Given the description of an element on the screen output the (x, y) to click on. 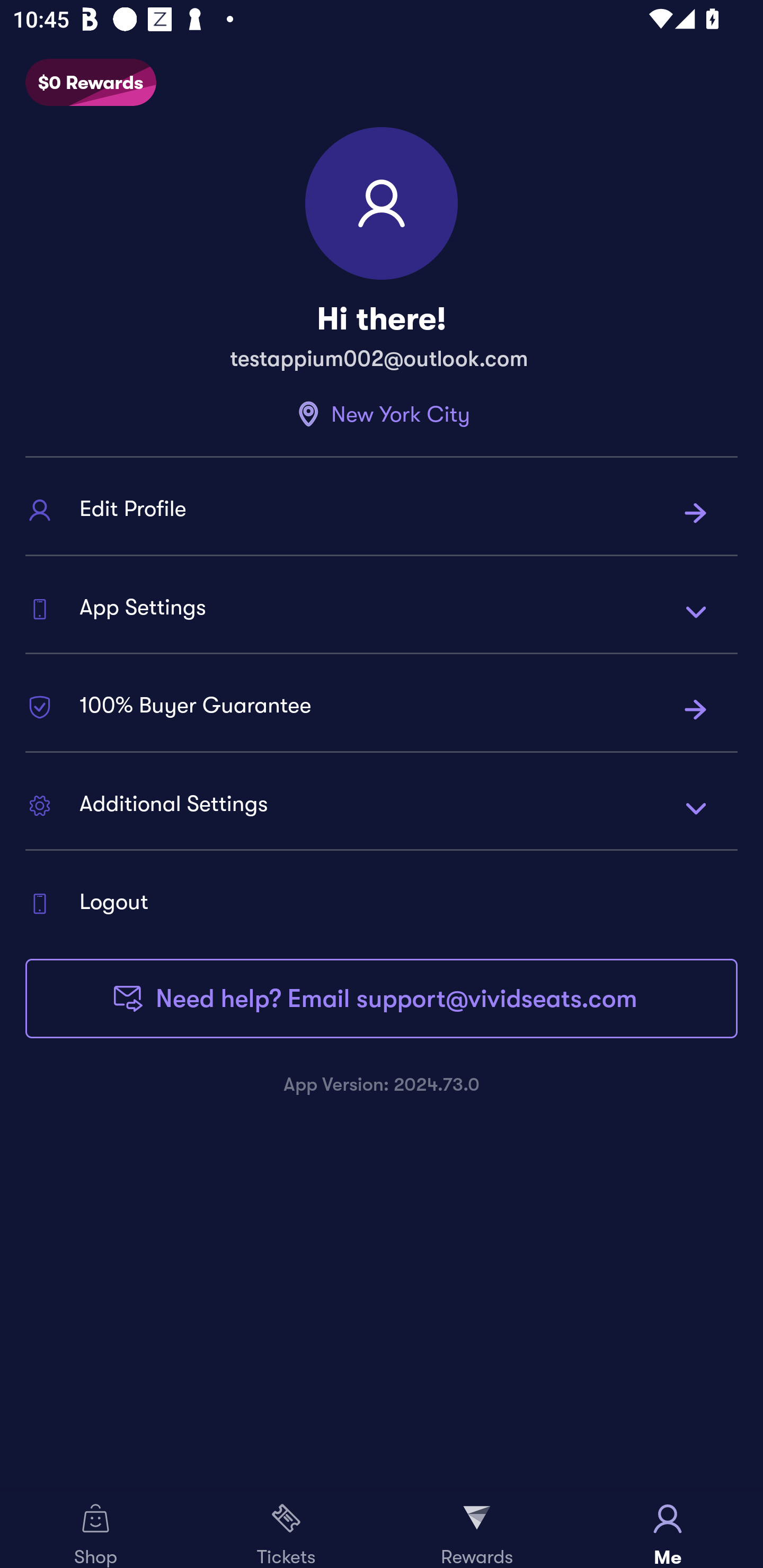
$0 Rewards (90, 82)
New York City (381, 413)
Edit Profile (381, 512)
App Settings  (381, 610)
100% Buyer Guarantee (381, 708)
Additional Settings  (381, 807)
Logout (381, 902)
Need help? Email support@vividseats.com (381, 997)
App Version: 2024.73.0 (381, 1083)
Shop (95, 1529)
Tickets (285, 1529)
Rewards (476, 1529)
Me (667, 1529)
